Given the description of an element on the screen output the (x, y) to click on. 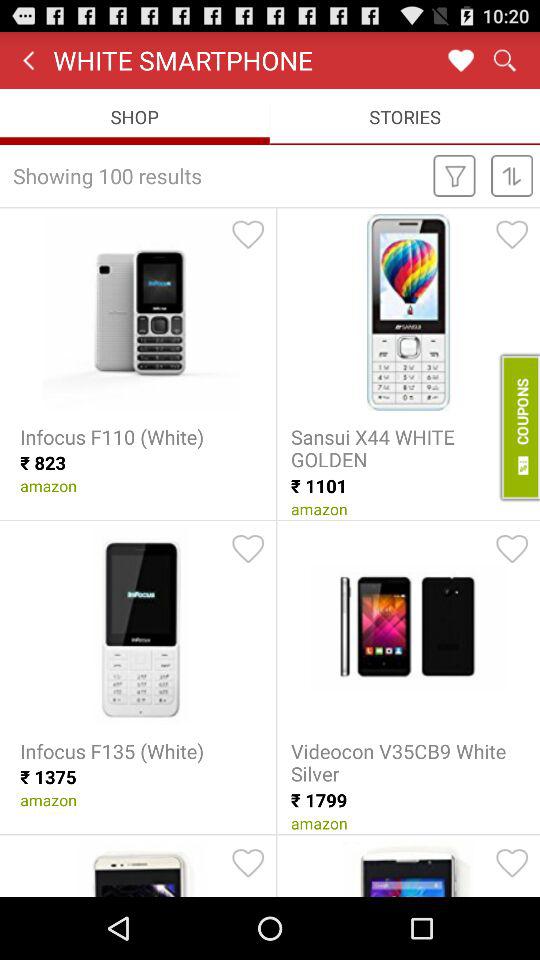
like sansui x44 white golden (512, 234)
